Given the description of an element on the screen output the (x, y) to click on. 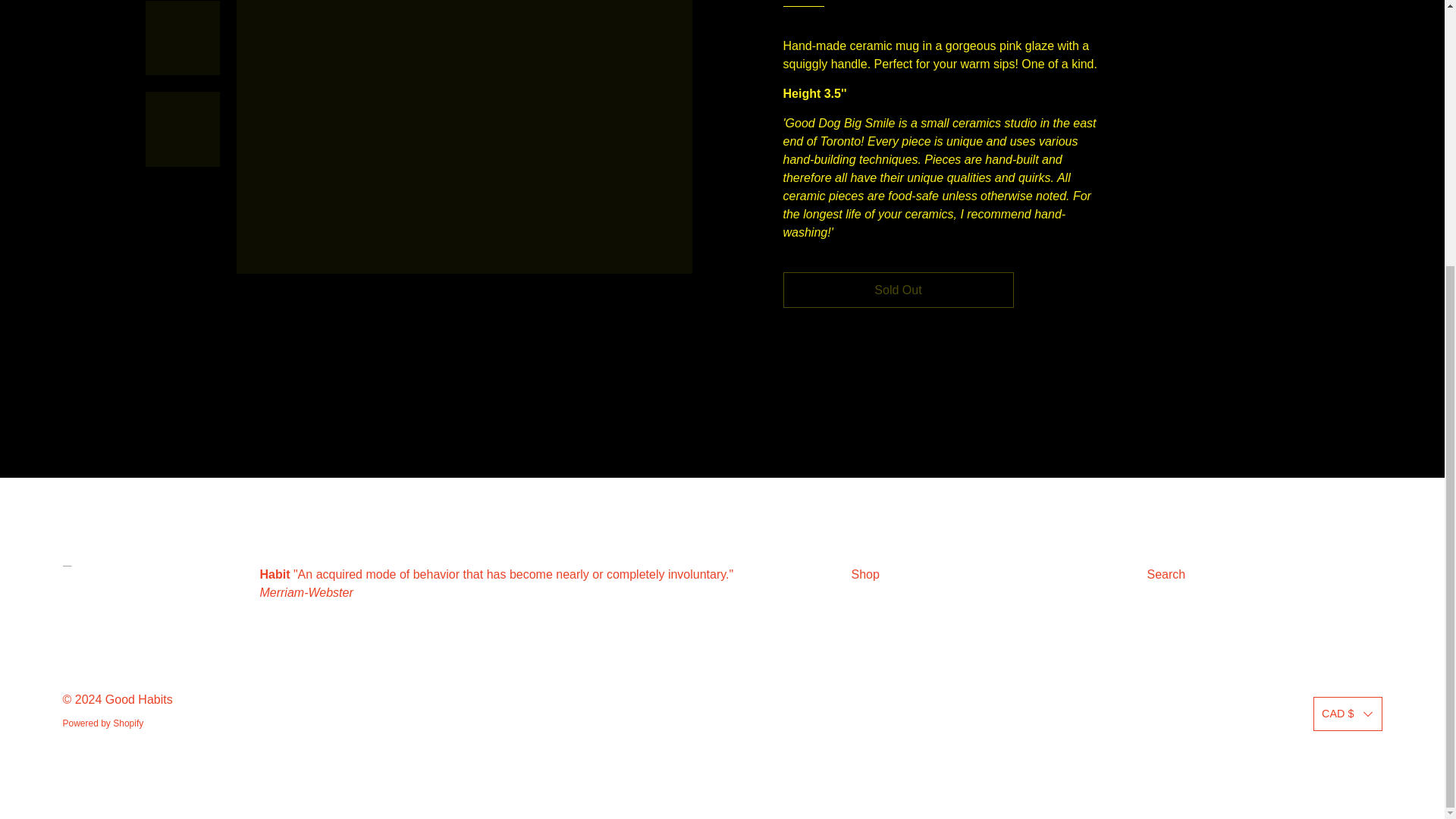
Load image into Gallery viewer, Pink Ceramic Mug (182, 128)
Load image into Gallery viewer, Pink Ceramic Mug (182, 38)
Search (1165, 574)
Shipping (803, 2)
Sold Out (898, 289)
Shop (864, 574)
